Given the description of an element on the screen output the (x, y) to click on. 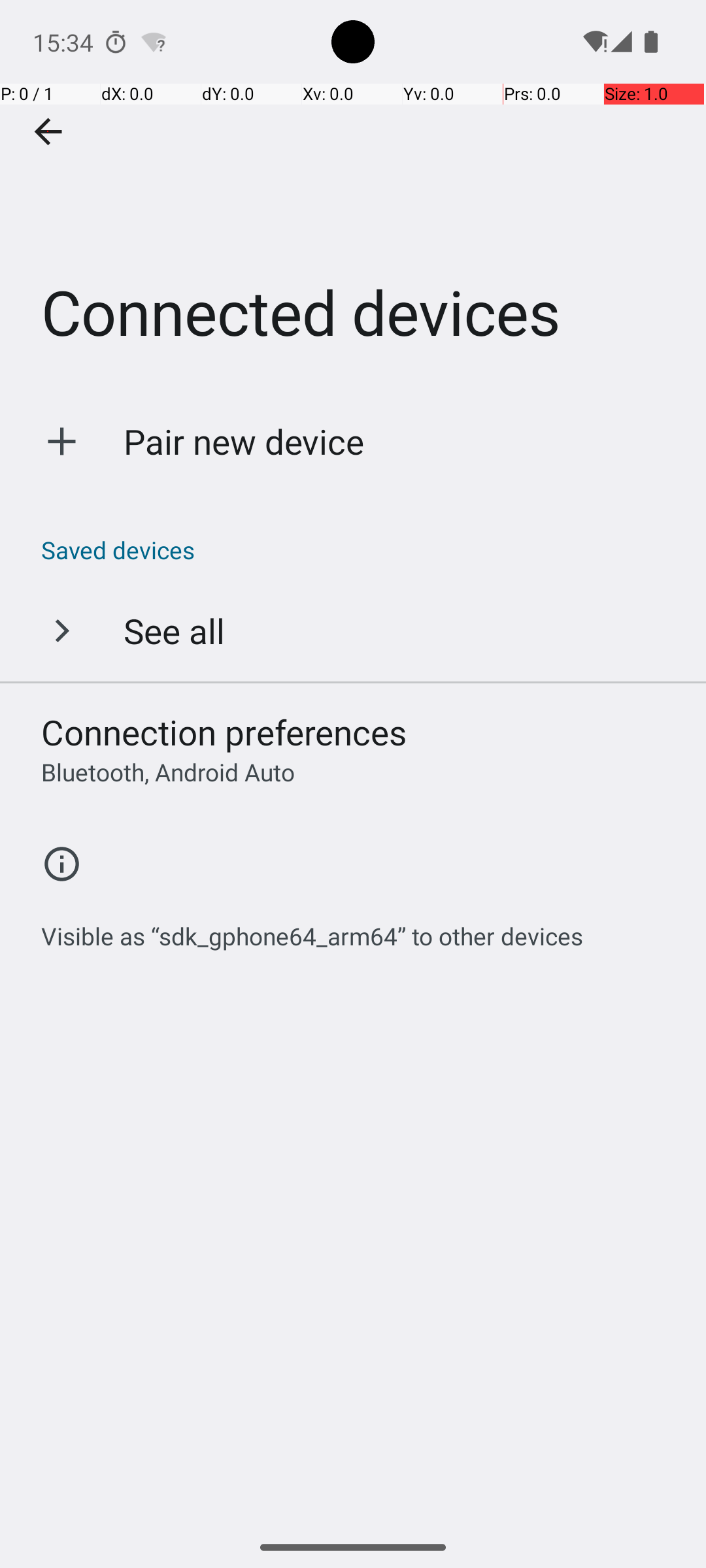
Visible as “sdk_gphone64_arm64” to other devices Element type: android.widget.TextView (312, 928)
